Given the description of an element on the screen output the (x, y) to click on. 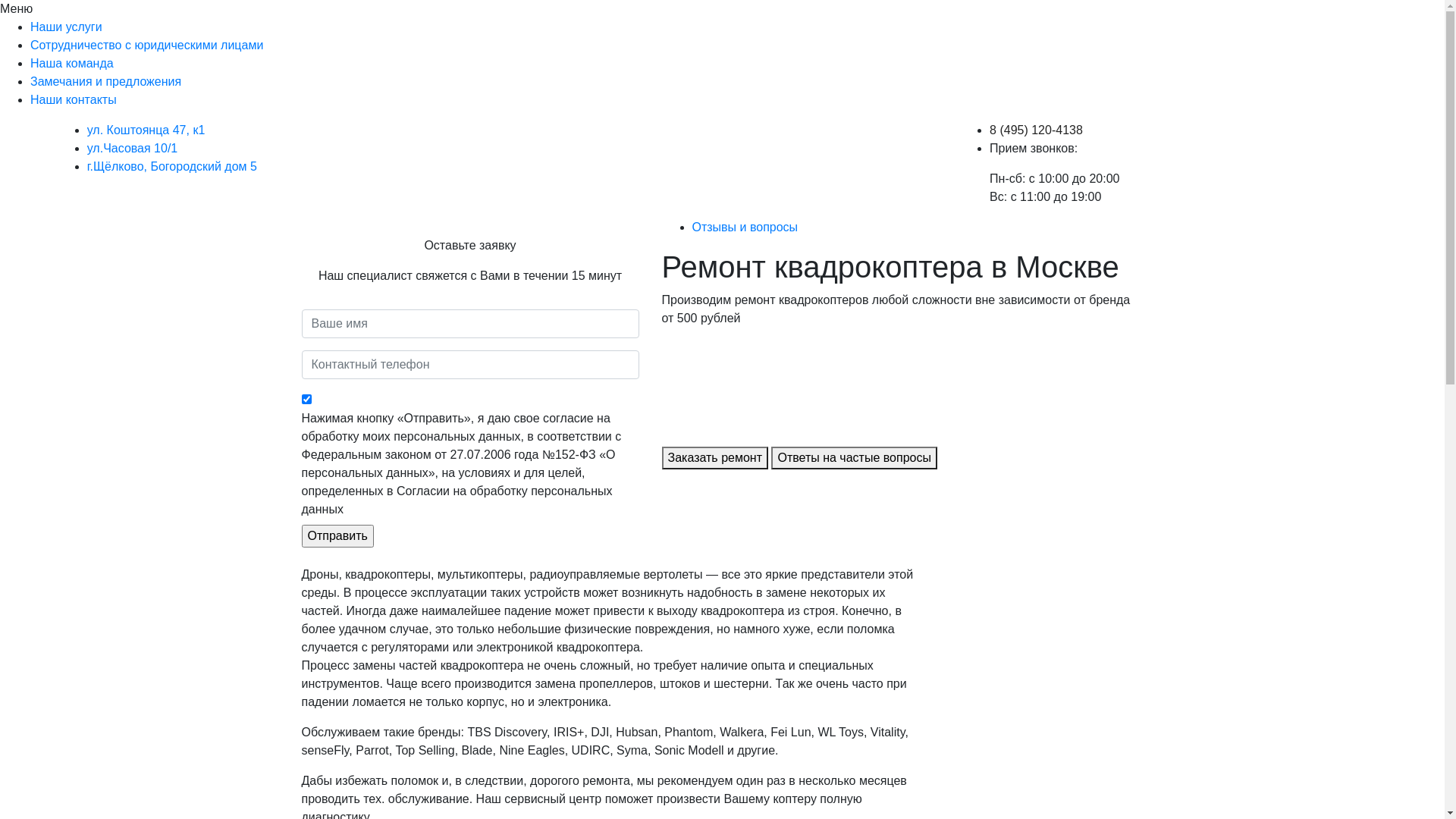
8 (495) 120-4138 Element type: text (1035, 129)
